Given the description of an element on the screen output the (x, y) to click on. 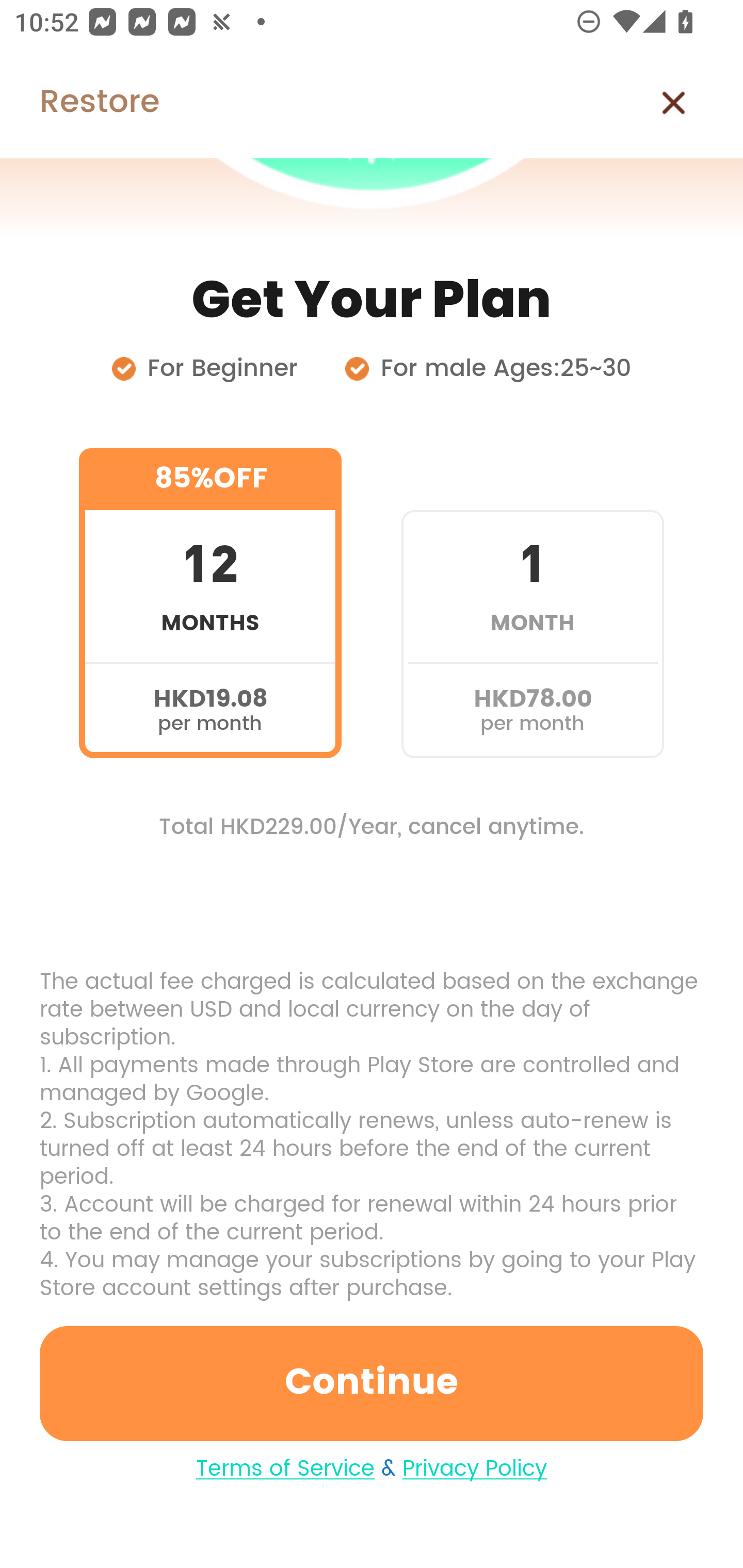
Restore (79, 102)
85%OFF 12 MONTHS per month HKD19.08 (209, 603)
1 MONTH per month HKD78.00 (532, 603)
Continue (371, 1383)
